Given the description of an element on the screen output the (x, y) to click on. 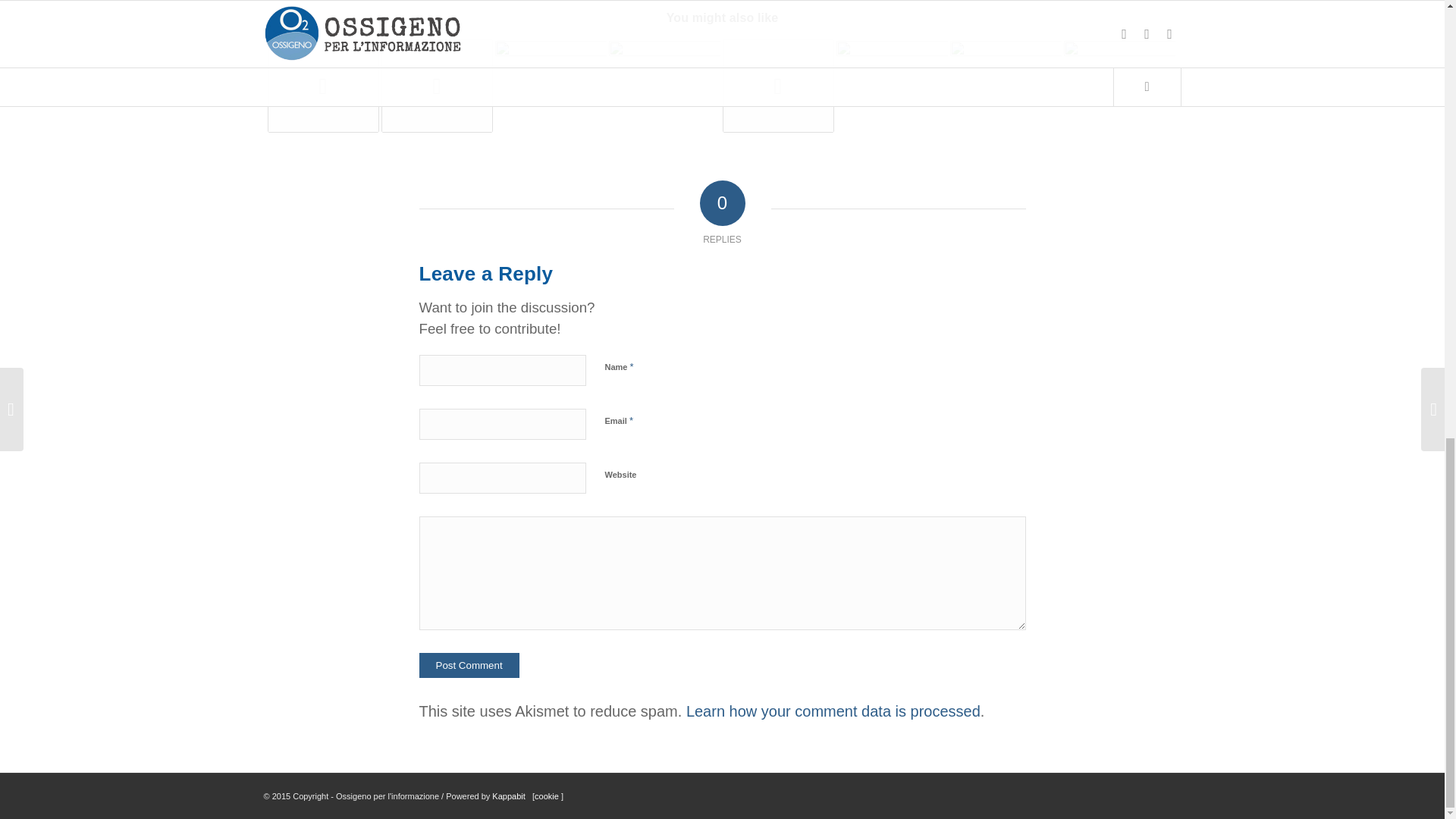
Post Comment (468, 665)
